Given the description of an element on the screen output the (x, y) to click on. 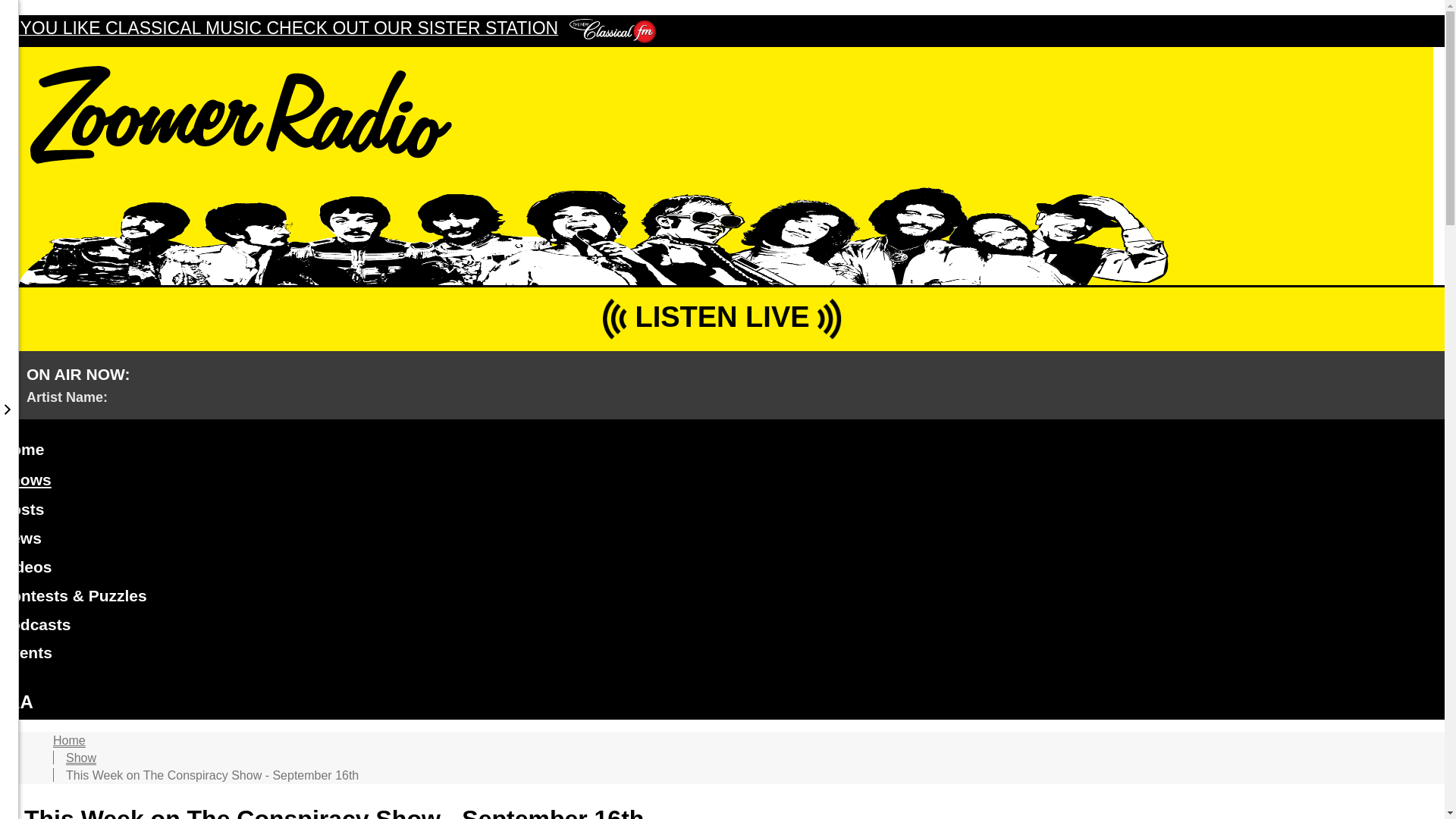
This Week on The Conspiracy Show - September 16th (211, 775)
IF YOU LIKE CLASSICAL MUSIC CHECK OUT OUR SISTER STATION (328, 29)
Show (80, 757)
Home (68, 740)
Shows (25, 480)
